Given the description of an element on the screen output the (x, y) to click on. 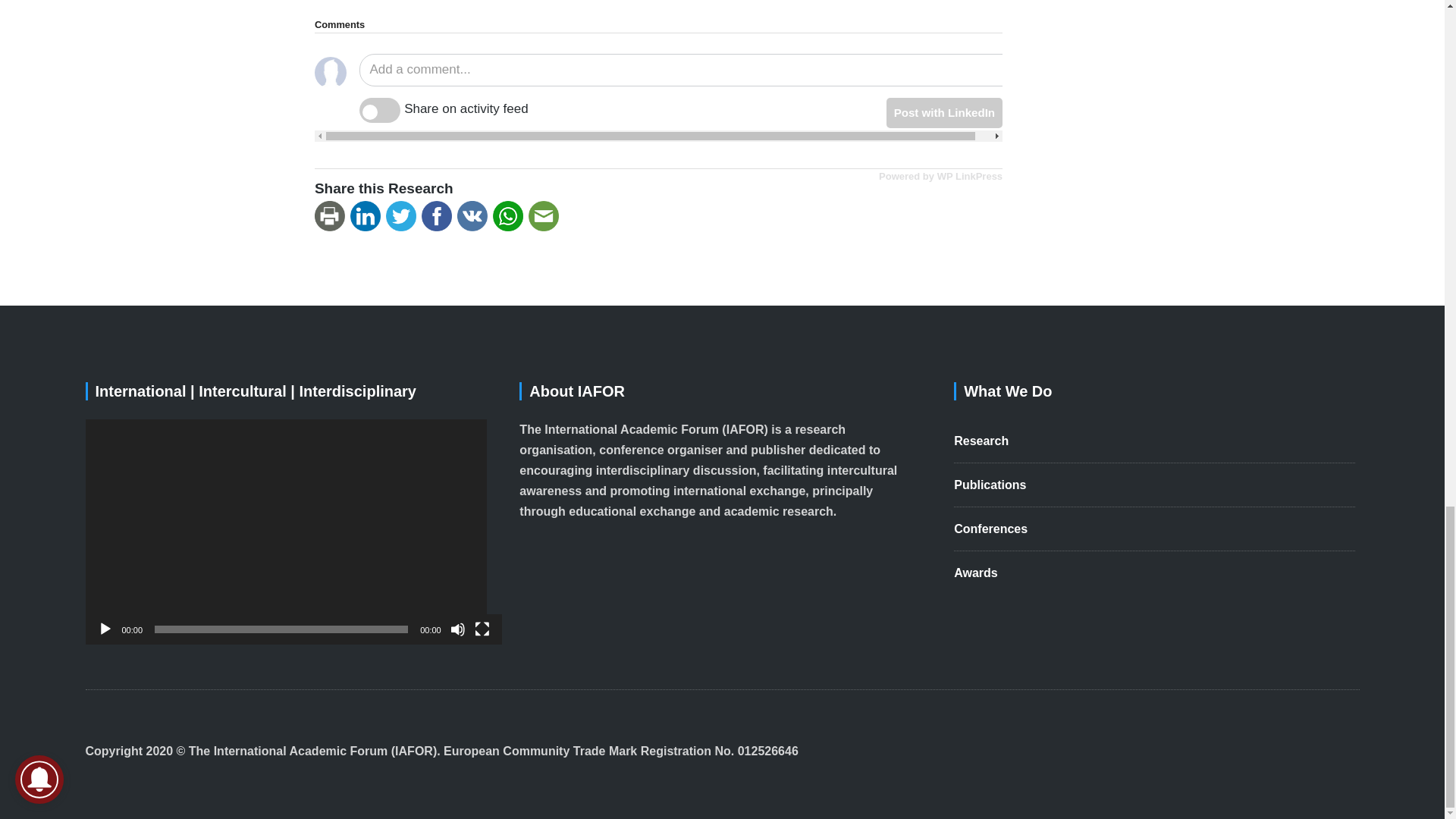
twitter (403, 216)
whatsapp (510, 216)
email (546, 216)
facebook (439, 216)
linkedin (367, 216)
print (332, 216)
Play (104, 629)
vk (475, 216)
